Given the description of an element on the screen output the (x, y) to click on. 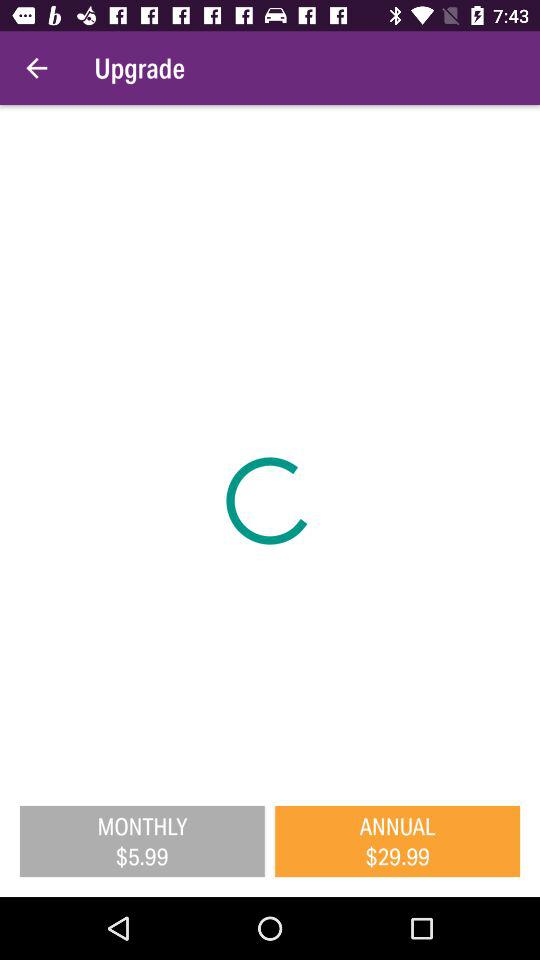
turn off icon at the bottom left corner (141, 841)
